Given the description of an element on the screen output the (x, y) to click on. 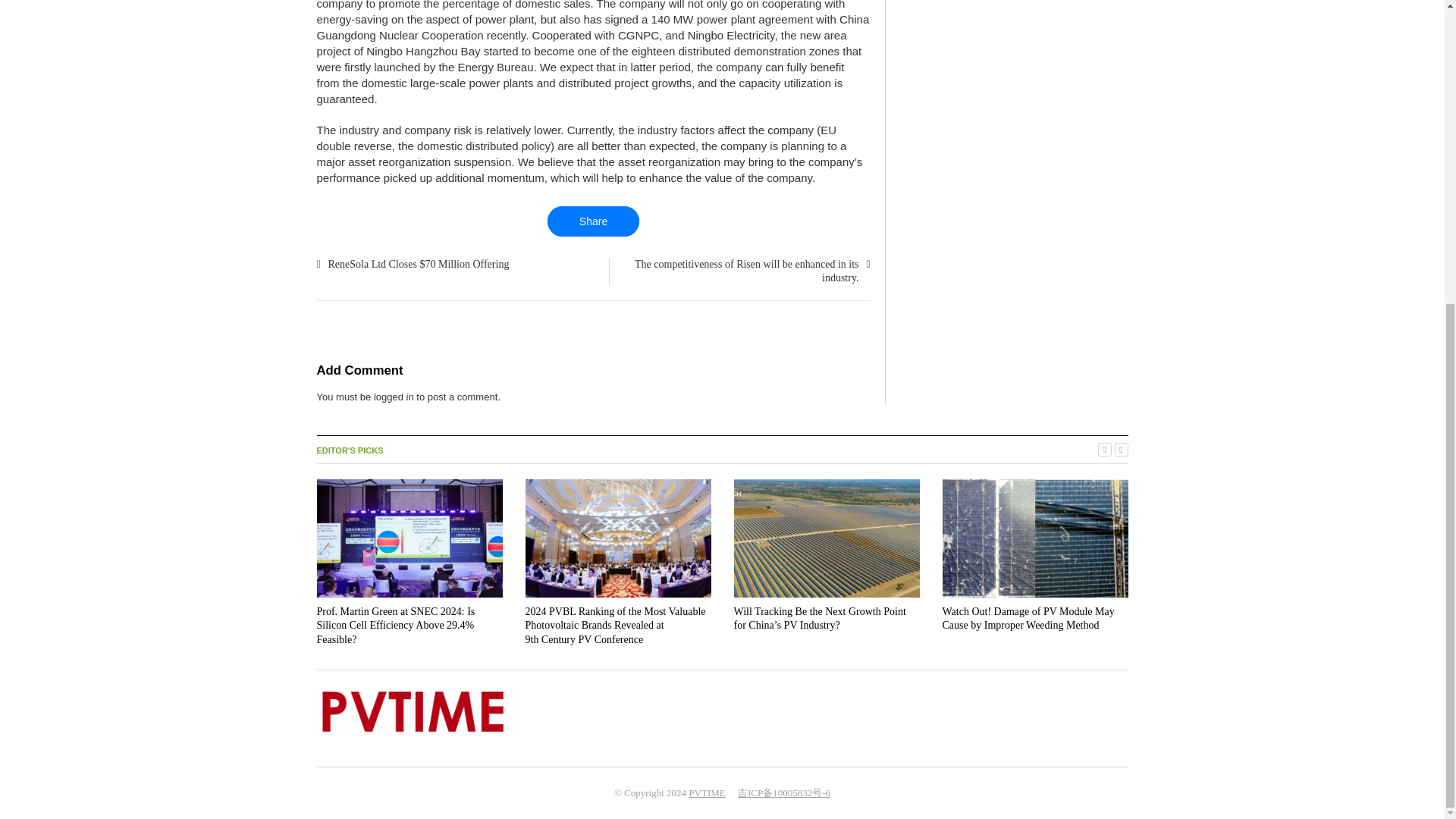
Share (593, 221)
logged in (393, 396)
